Given the description of an element on the screen output the (x, y) to click on. 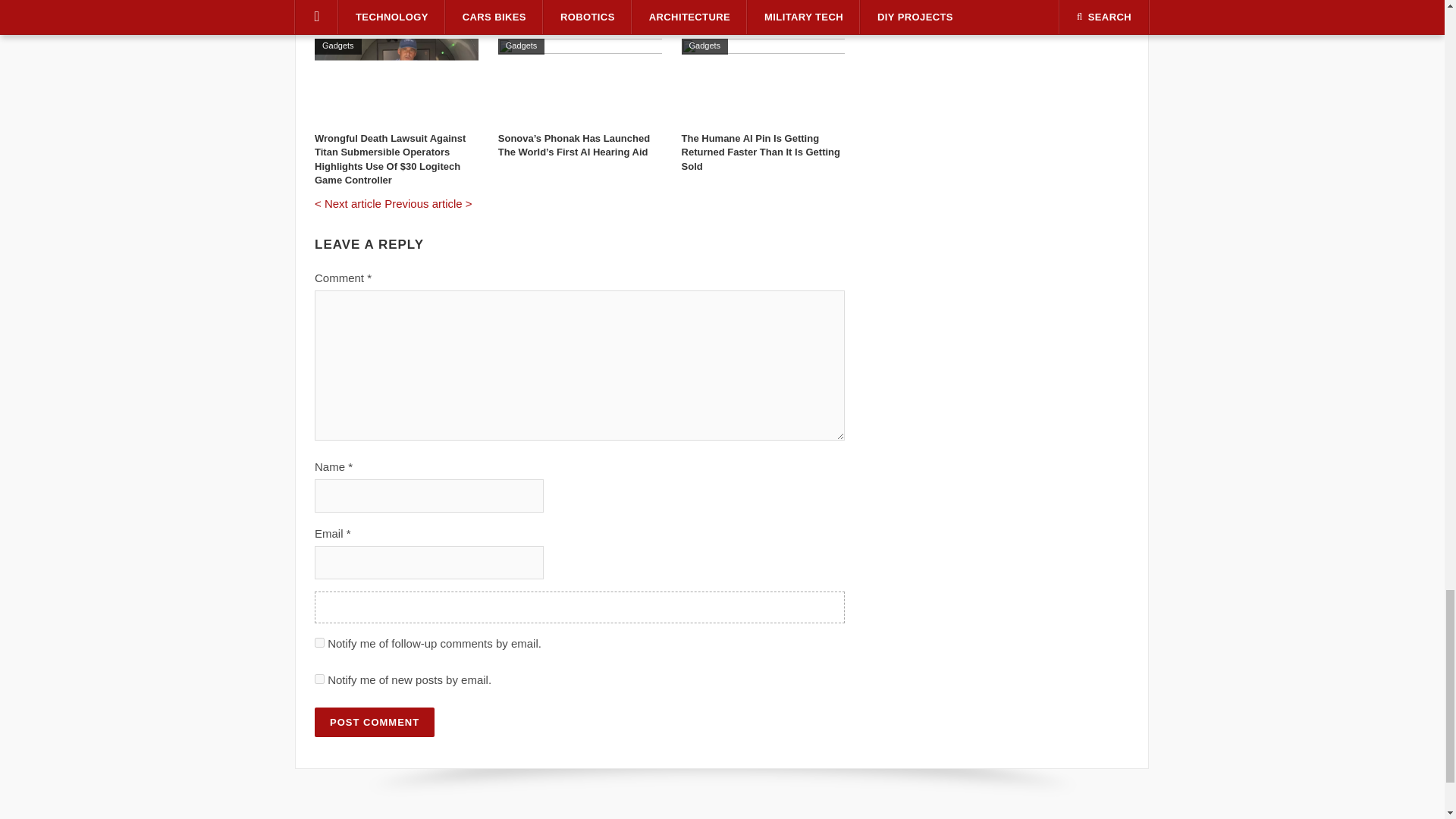
subscribe (319, 642)
subscribe (319, 678)
Post Comment (373, 722)
